Given the description of an element on the screen output the (x, y) to click on. 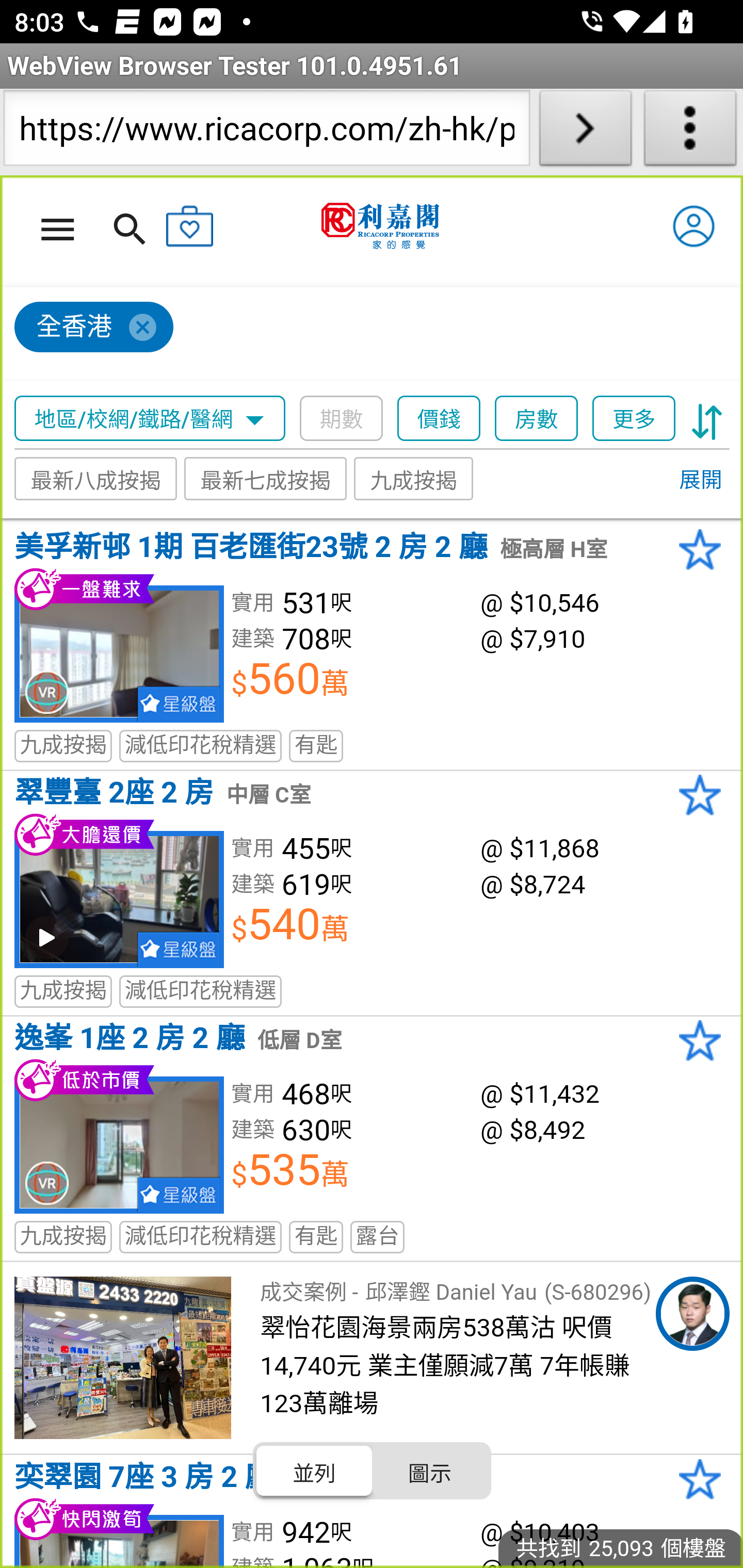
https://www.ricacorp.com/zh-hk/property/list/buy (266, 132)
Load URL (585, 132)
About WebView (690, 132)
全香港 (94, 327)
地區/校網/鐵路/醫網 (150, 418)
期數 (341, 418)
價錢 (439, 418)
房數 (536, 418)
更多 (634, 418)
sort (706, 418)
最新八成按揭 (96, 478)
最新七成按揭 (266, 478)
九成按揭 (413, 478)
展開 (699, 481)
Daniel Yau (692, 1313)
並列 (314, 1470)
圖示 (429, 1470)
